Given the description of an element on the screen output the (x, y) to click on. 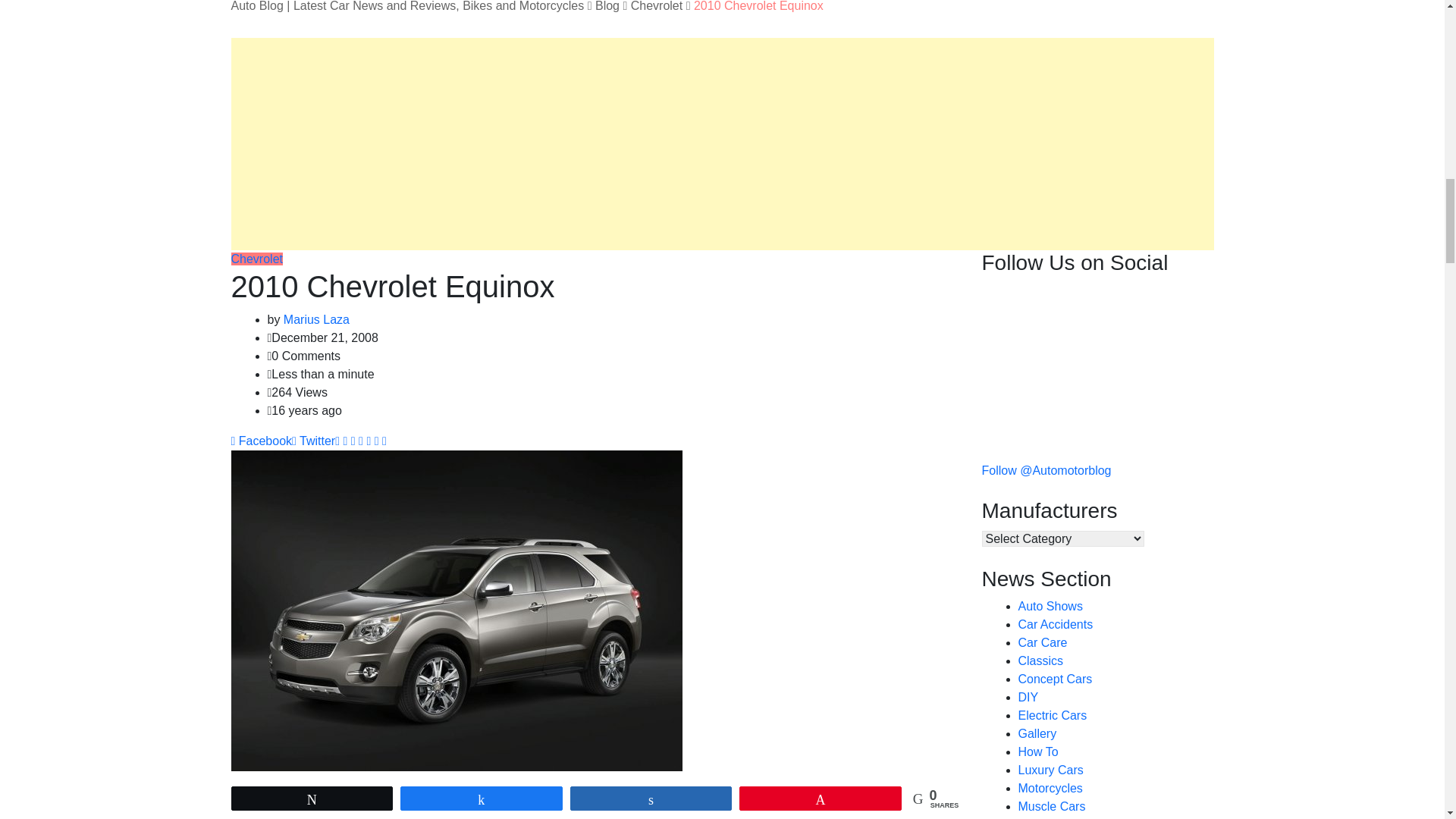
Posts by Marius Laza (316, 318)
Go to Blog. (607, 6)
Go to the Chevrolet Category archives. (656, 6)
